Given the description of an element on the screen output the (x, y) to click on. 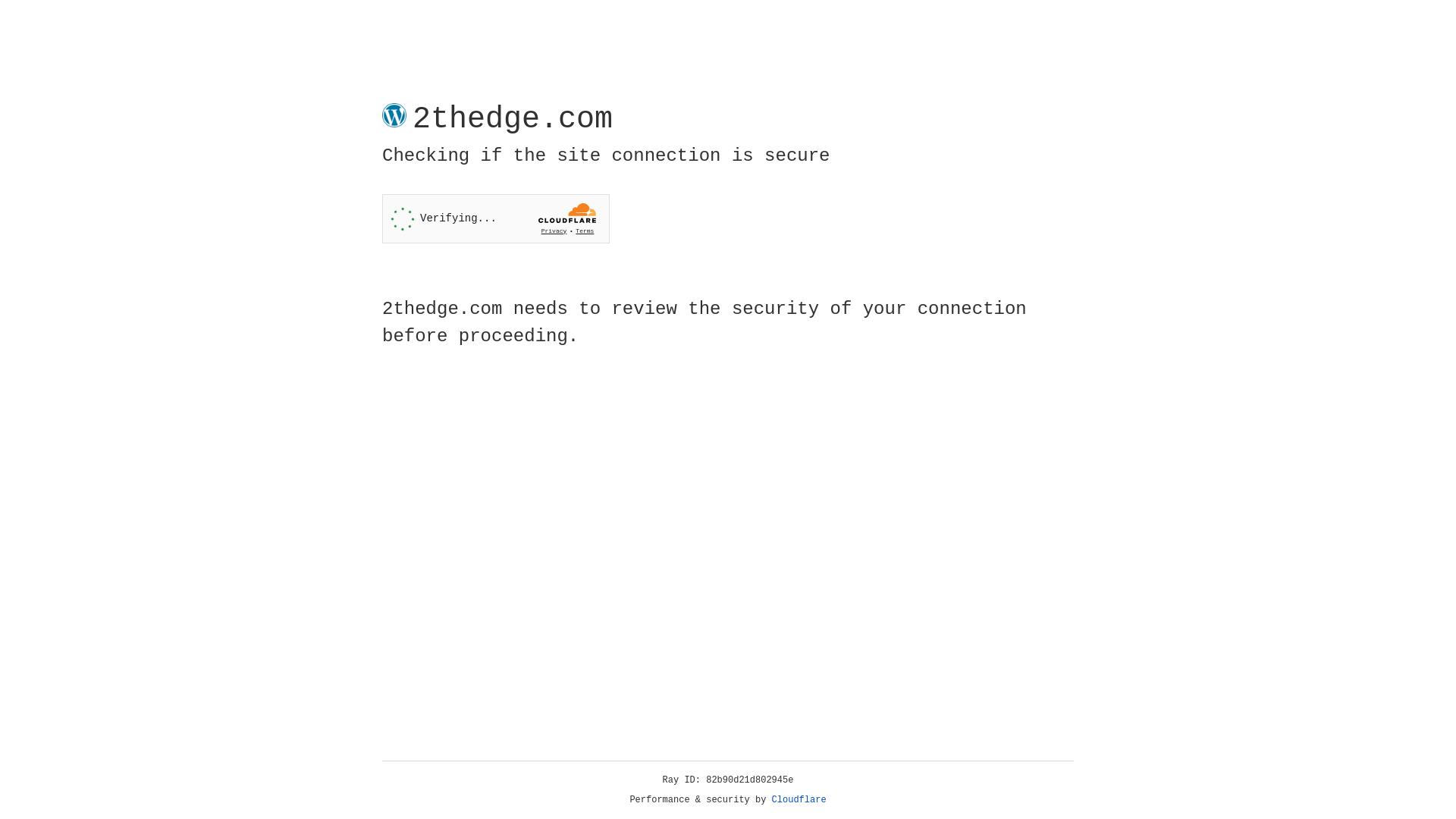
Widget containing a Cloudflare security challenge Element type: hover (495, 218)
Cloudflare Element type: text (798, 799)
